Given the description of an element on the screen output the (x, y) to click on. 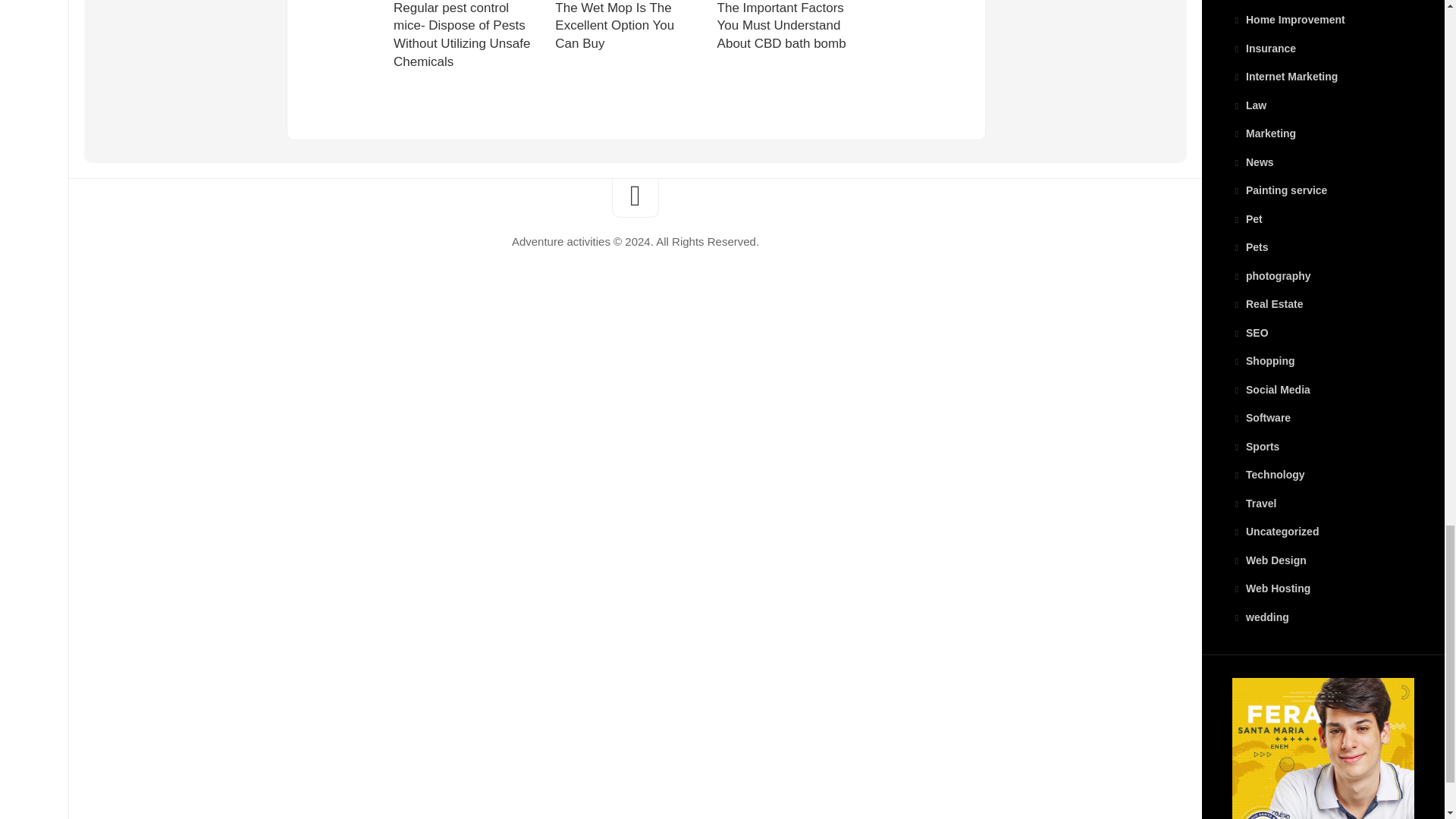
Home Improvement (1288, 19)
Insurance (1263, 48)
Law (1248, 105)
Internet Marketing (1284, 76)
